Given the description of an element on the screen output the (x, y) to click on. 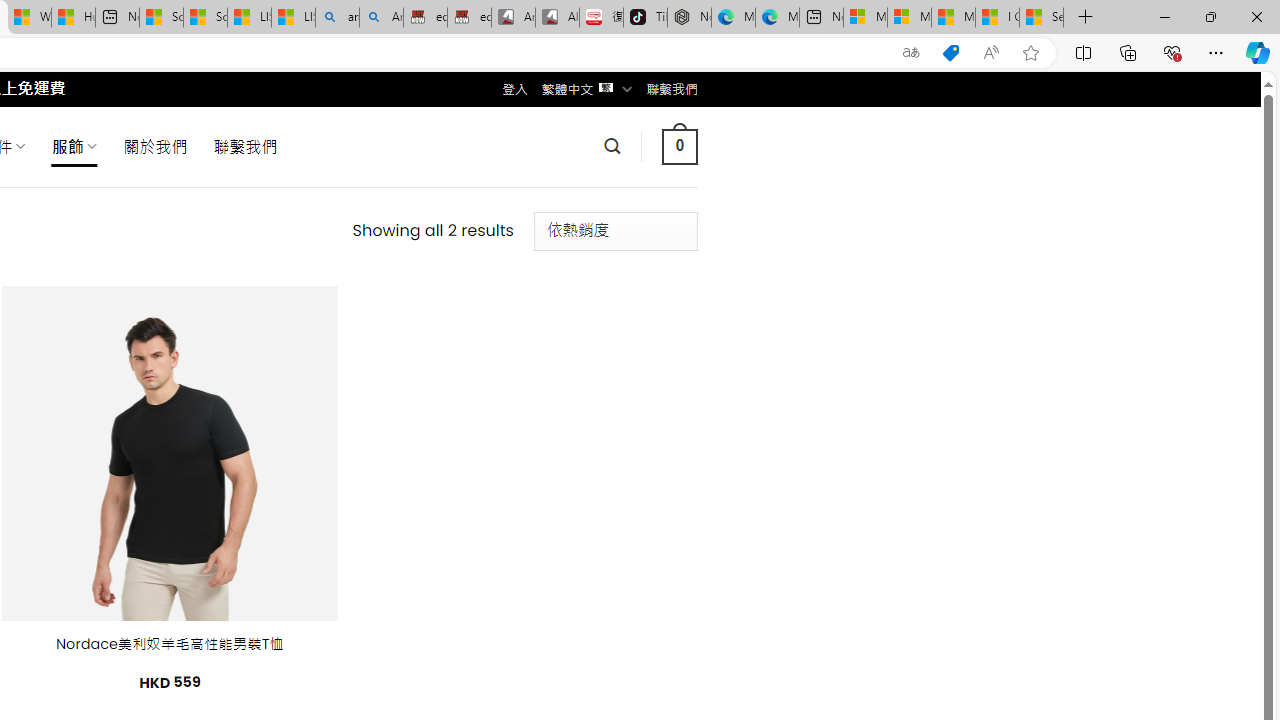
Amazon Echo Dot PNG - Search Images (381, 17)
Huge shark washes ashore at New York City beach | Watch (73, 17)
